Given the description of an element on the screen output the (x, y) to click on. 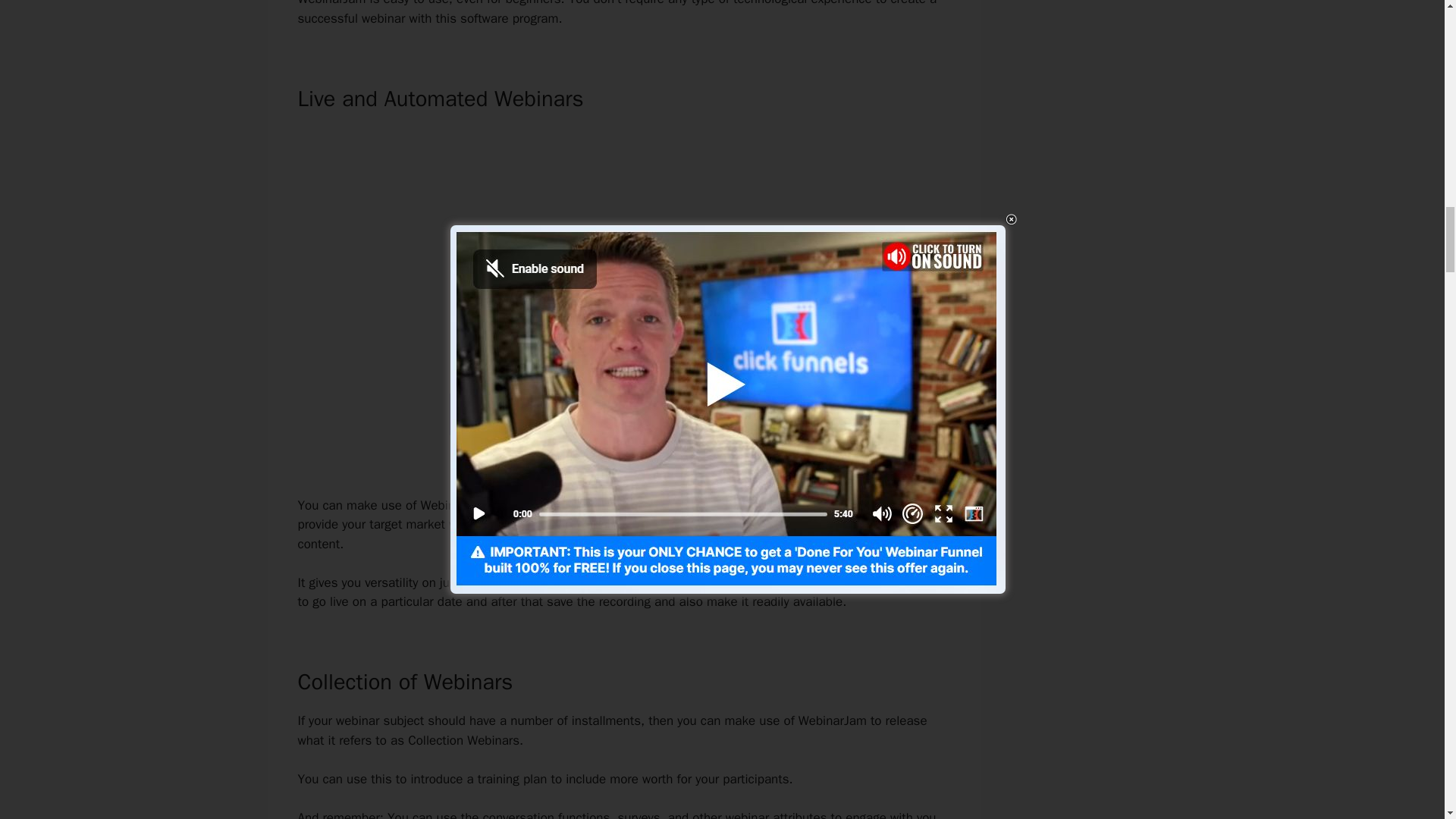
YouTube video player (622, 246)
Start Your Free WebinarJam Account Now (623, 413)
